Given the description of an element on the screen output the (x, y) to click on. 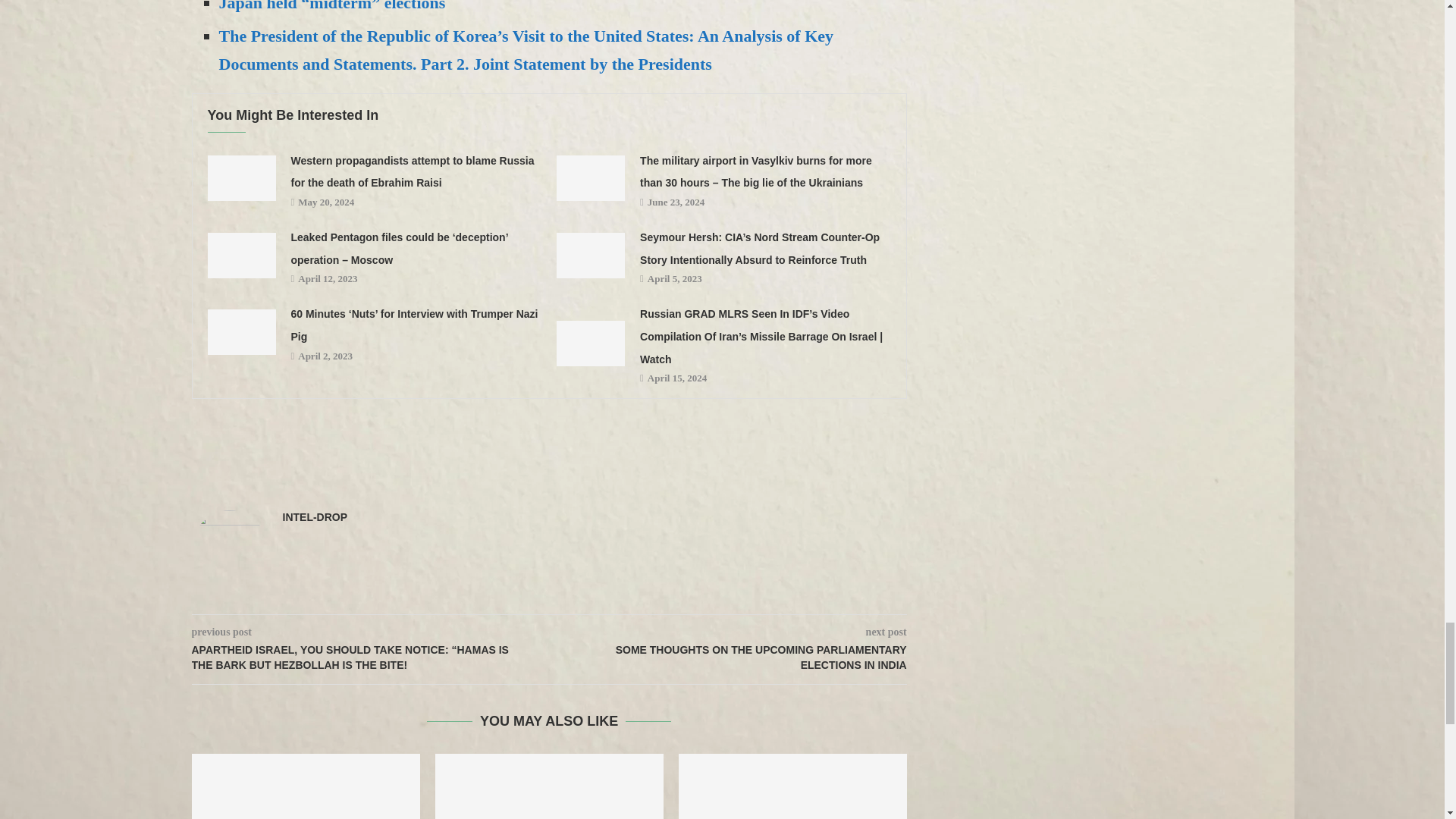
Author INTEL-DROP (314, 517)
The Perspective From China (304, 786)
